Given the description of an element on the screen output the (x, y) to click on. 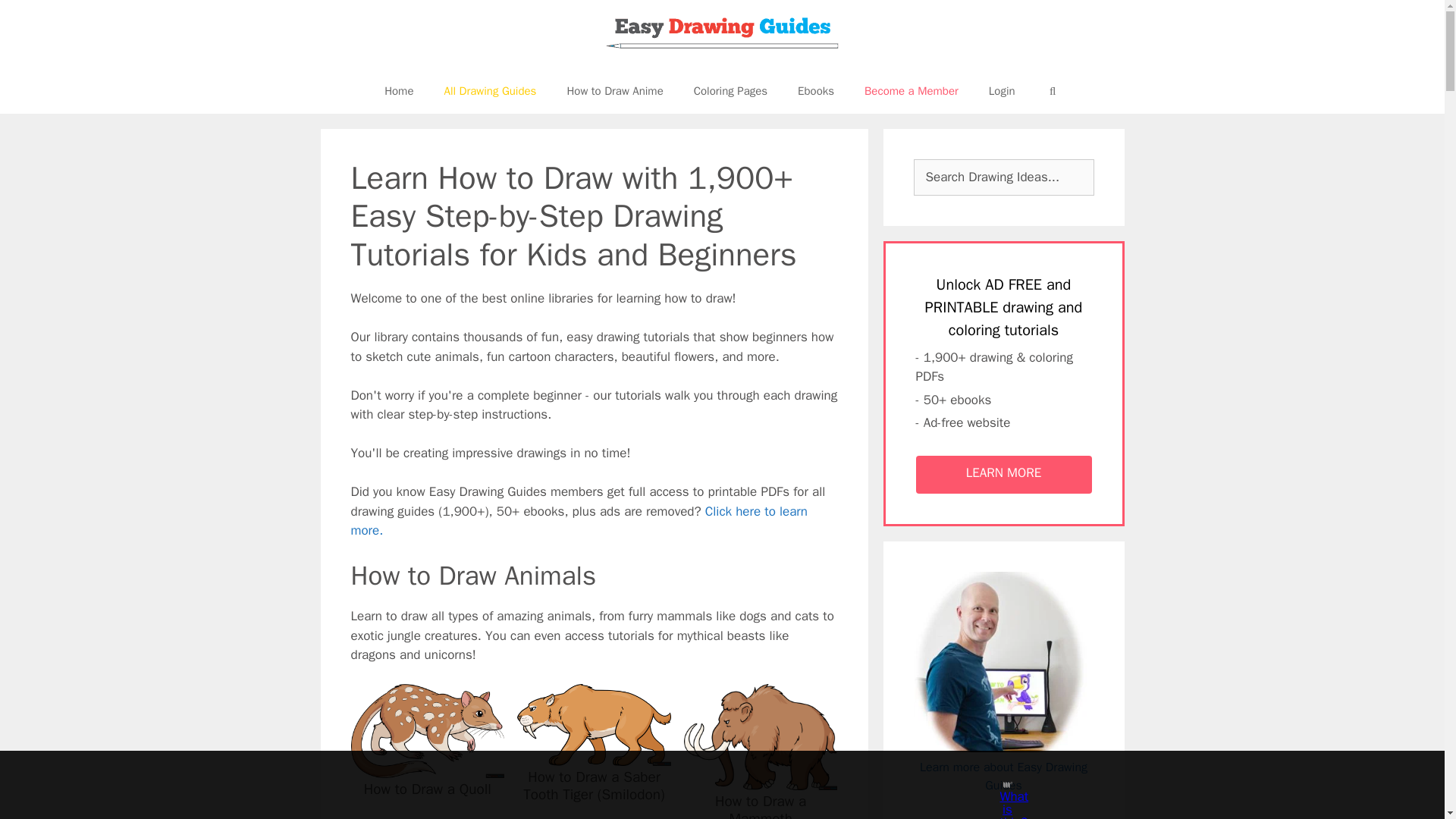
How to Draw a Quoll (426, 767)
How to Draw a Quoll (428, 789)
Become a Member (911, 90)
Ebooks (815, 90)
How to Draw Anime (614, 90)
How to Draw a Mammoth (760, 805)
Coloring Pages (730, 90)
Login (1002, 90)
Home (398, 90)
How to Draw a Mammoth (761, 779)
All Drawing Guides (489, 90)
Click here to learn more. (578, 520)
